Given the description of an element on the screen output the (x, y) to click on. 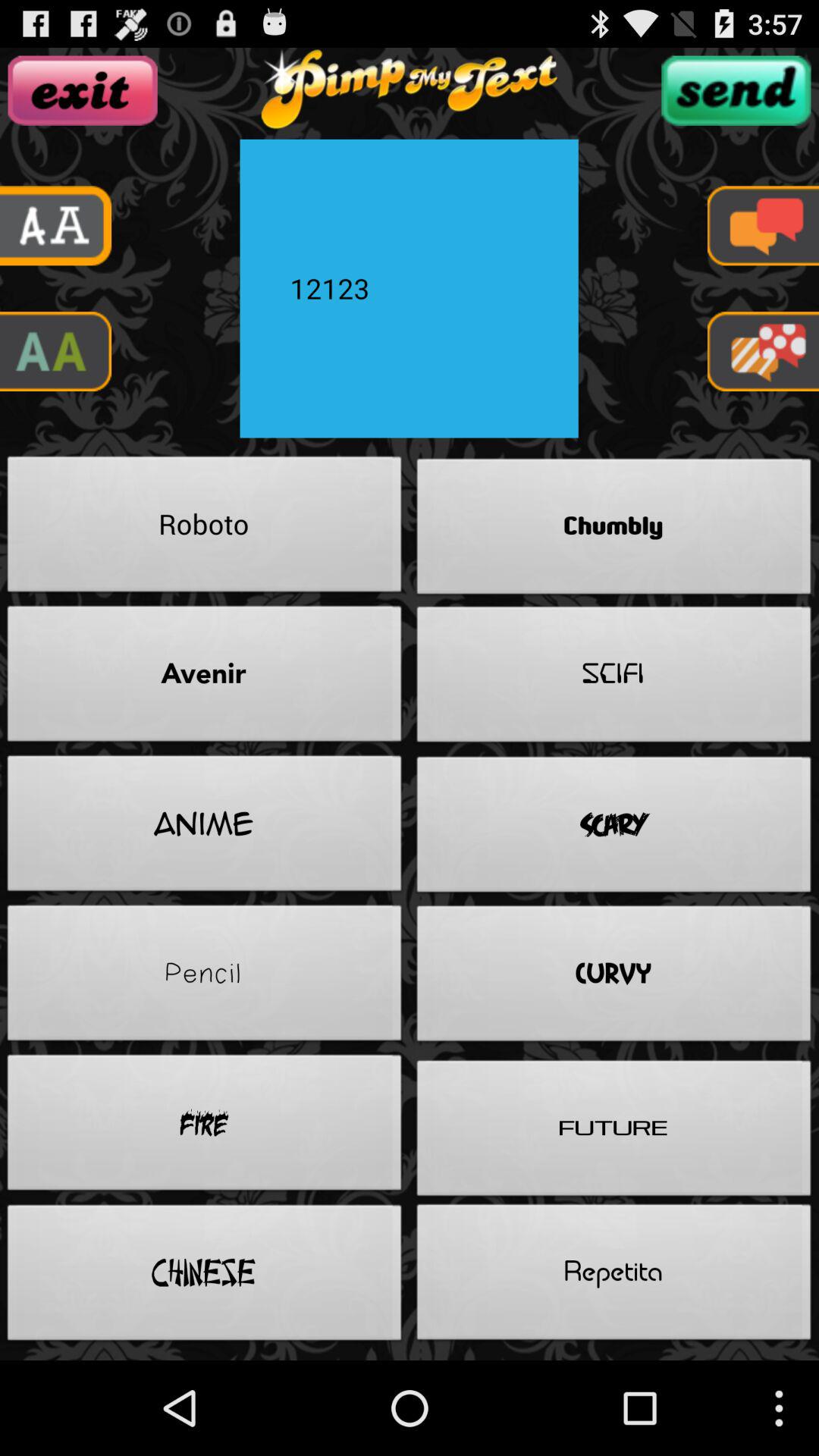
option for text (763, 225)
